Given the description of an element on the screen output the (x, y) to click on. 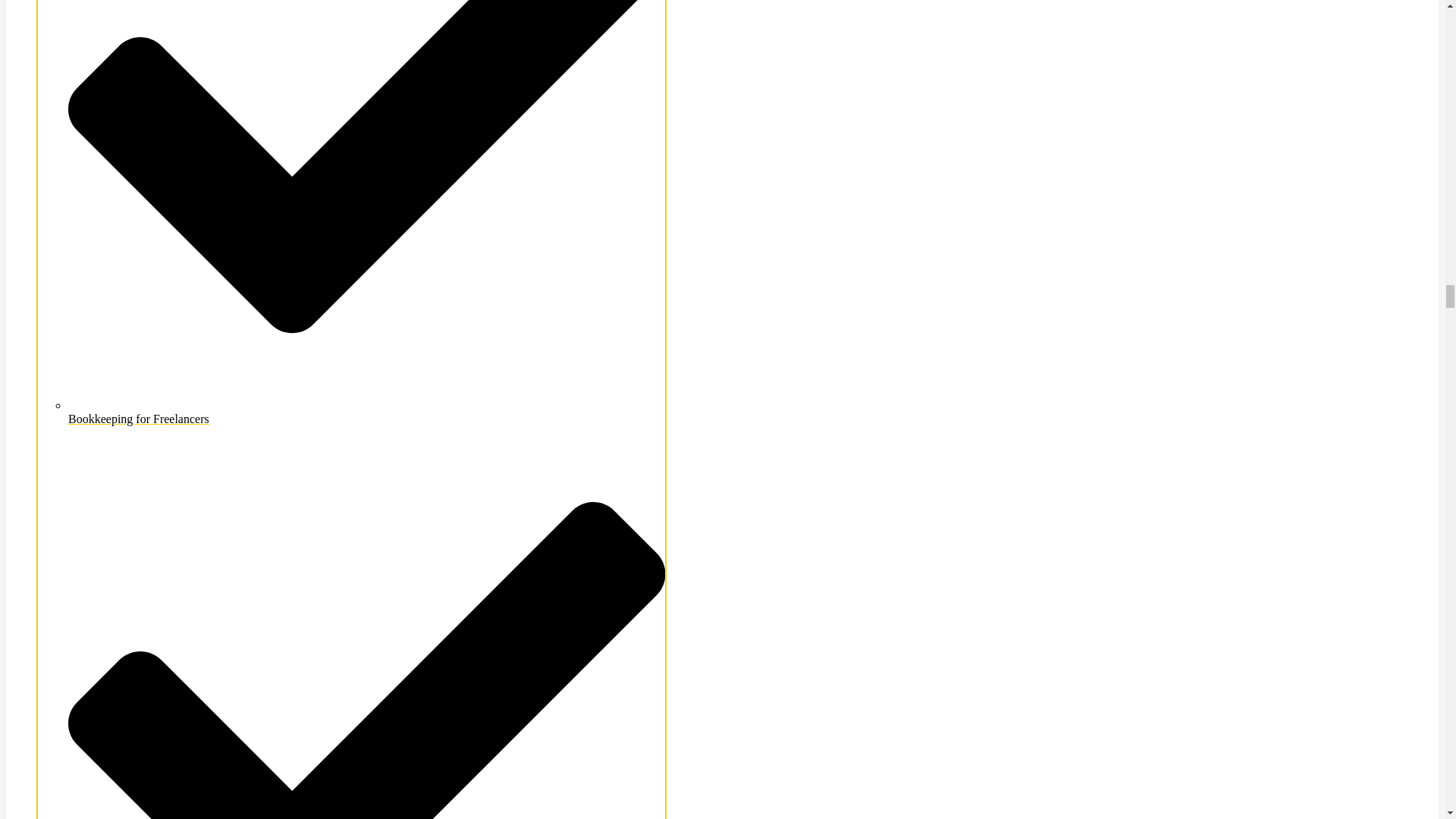
Bookkeeping for Freelancers (366, 411)
